Given the description of an element on the screen output the (x, y) to click on. 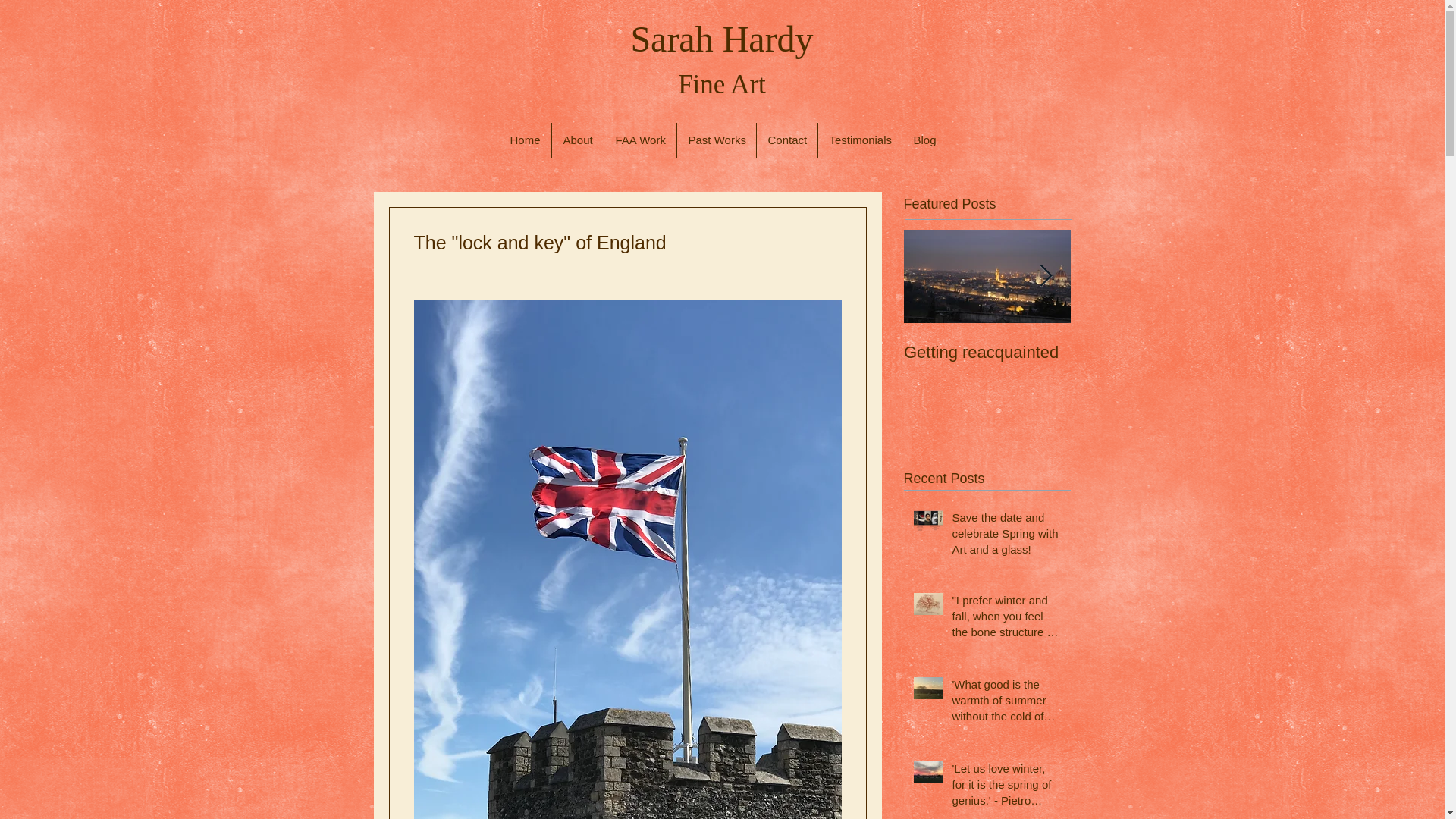
Past Works (716, 140)
FAA Work (639, 140)
Addio Inghilterra, ciao Firenze (1153, 362)
Getting reacquainted (987, 352)
Blog (924, 140)
About (577, 140)
Save the date and celebrate Spring with Art and a glass! (1006, 536)
Contact (786, 140)
Testimonials (858, 140)
Home (525, 140)
